Given the description of an element on the screen output the (x, y) to click on. 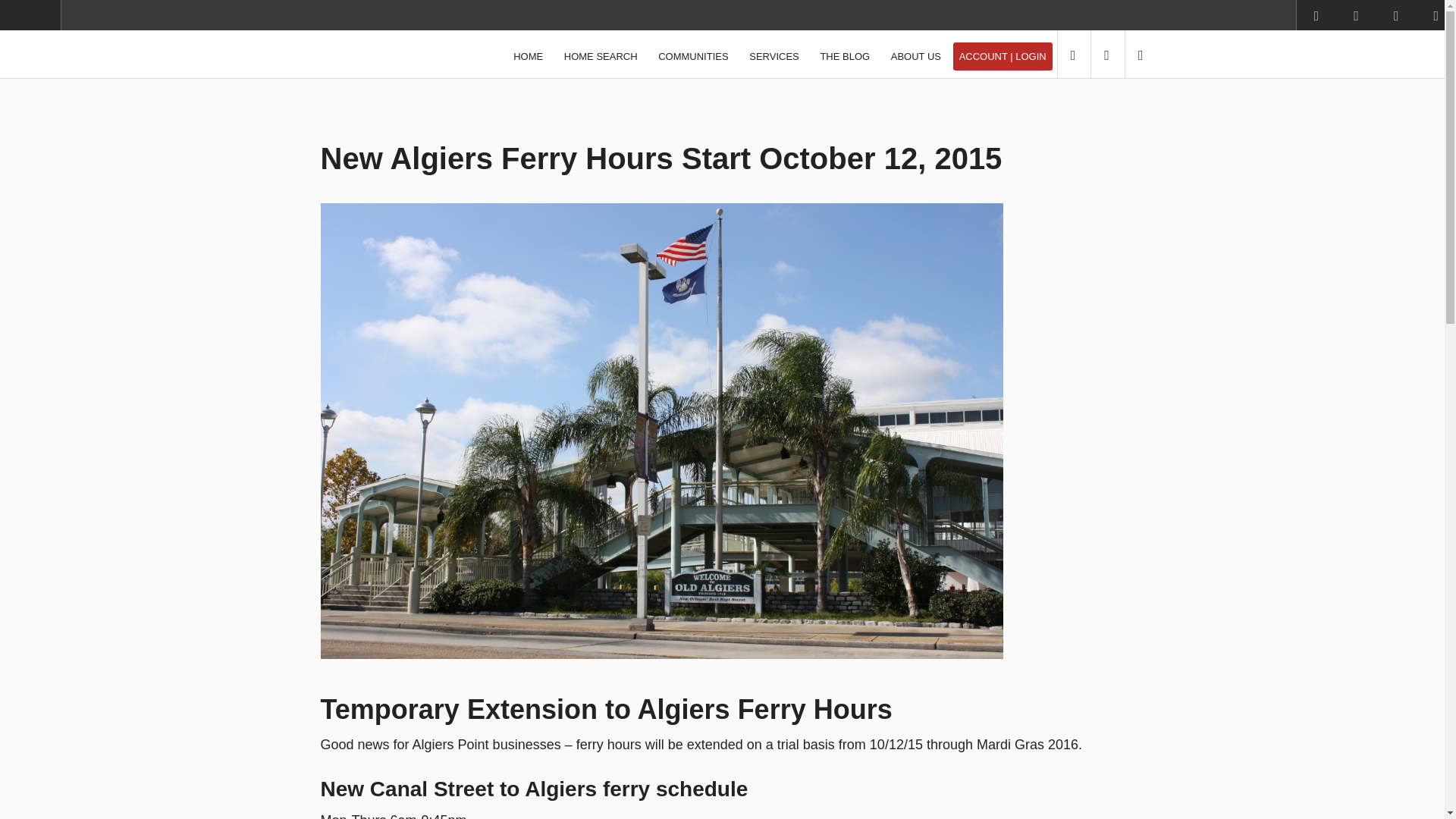
SERVICES (773, 56)
Crescent City Living (371, 53)
HOME SEARCH (600, 56)
ABOUT US (916, 56)
Find out more on Linkedin (1395, 16)
THE BLOG (844, 56)
Call us... (1072, 55)
See us on Instagram (1355, 16)
Visit us on Facebook (1316, 16)
HOME (527, 56)
